Given the description of an element on the screen output the (x, y) to click on. 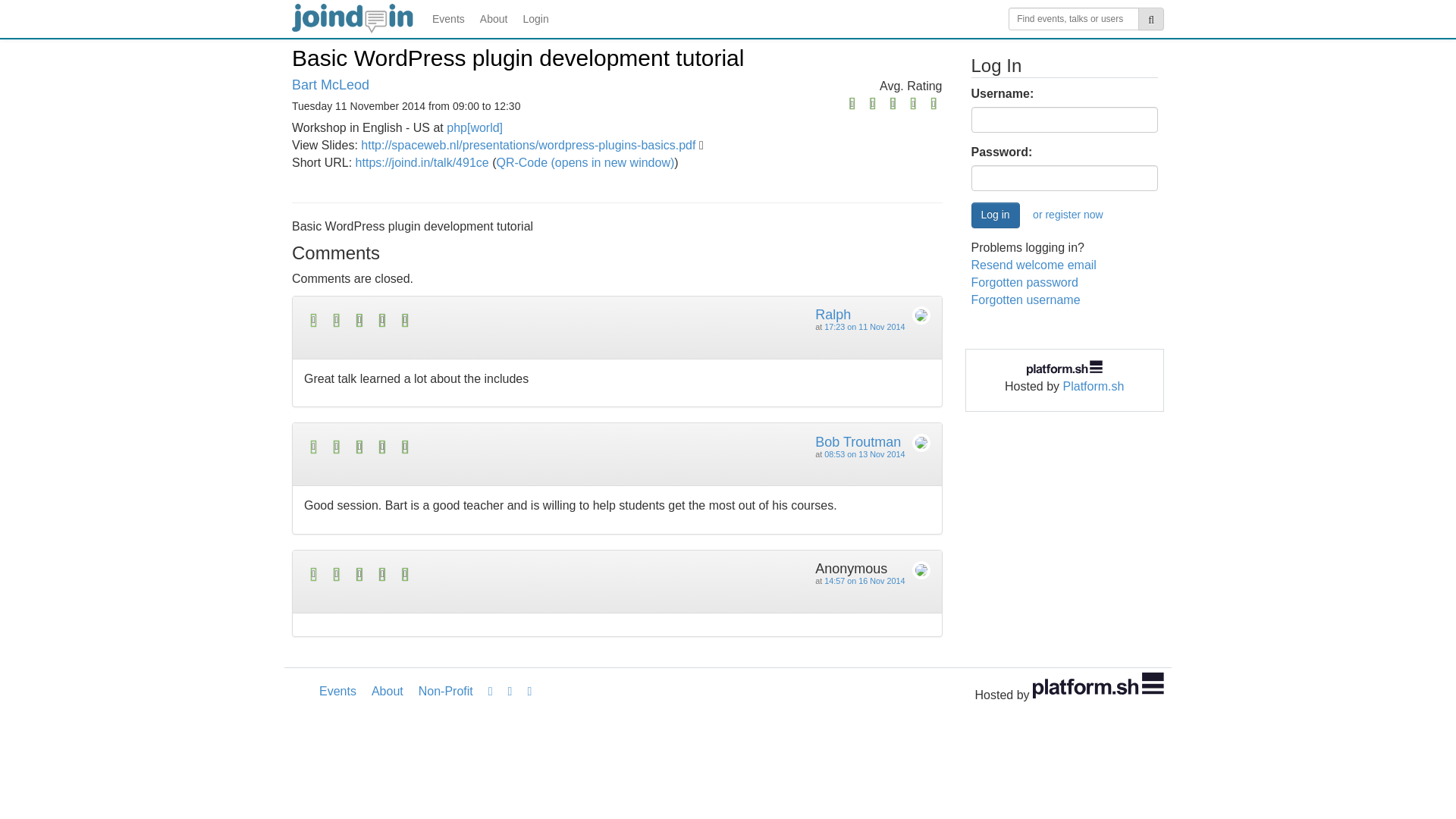
Events (448, 18)
14:57 on 16 Nov 2014 (864, 580)
or register now (1068, 215)
Log in (995, 215)
About (493, 18)
Rated 5 (460, 320)
Resend welcome email (1033, 264)
Events (337, 691)
Login (535, 18)
08:53 on 13 Nov 2014 (864, 453)
